Given the description of an element on the screen output the (x, y) to click on. 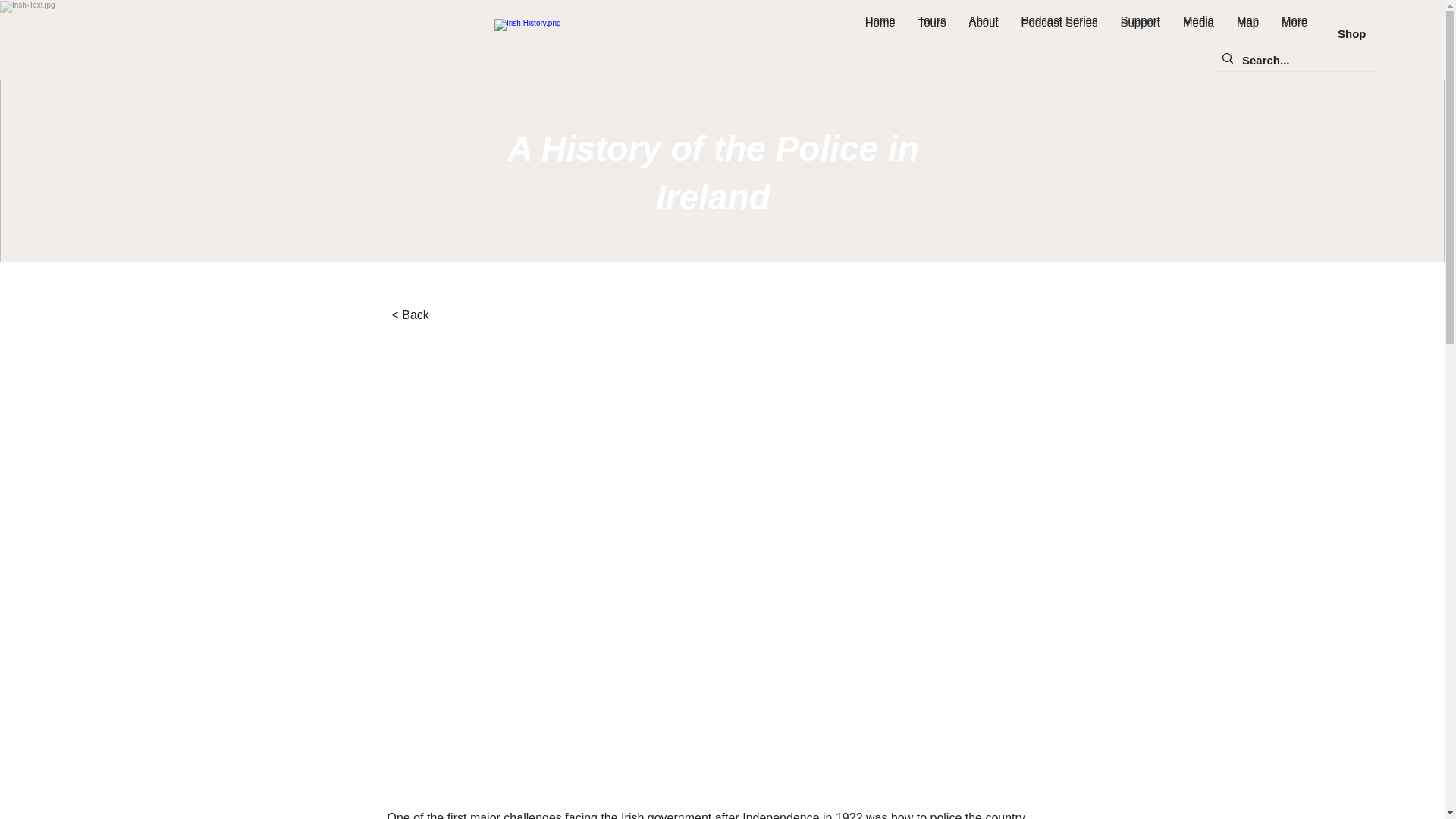
Podcast Series (1059, 33)
Support (1140, 33)
Media (1198, 33)
Shop (1352, 33)
Map (1247, 33)
Map (1247, 33)
Tours (932, 33)
Media (1198, 33)
Support (1140, 33)
Home (880, 33)
